Given the description of an element on the screen output the (x, y) to click on. 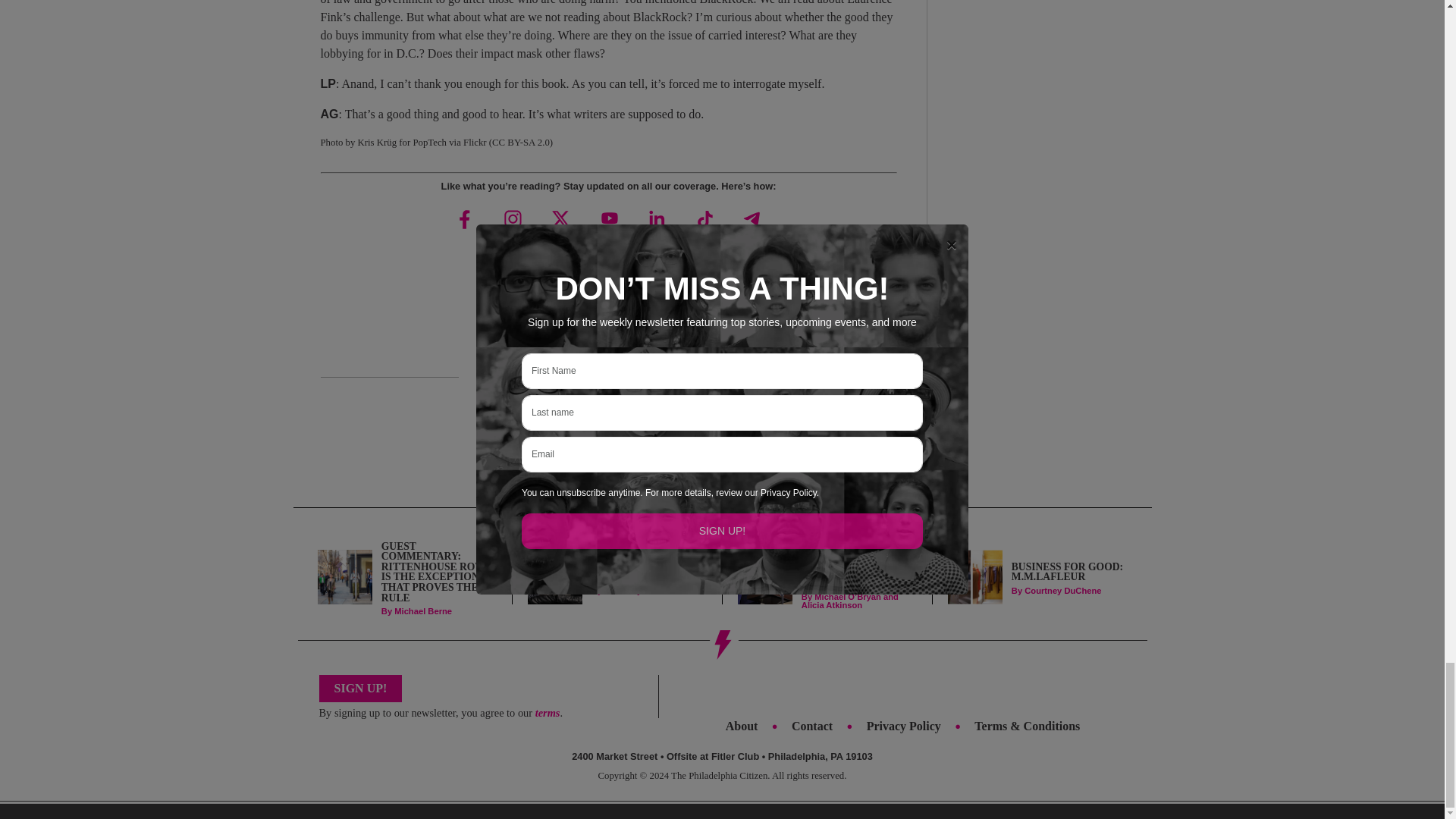
Instagram (512, 218)
Youtube (607, 218)
Facebook (464, 218)
LinkedIn (656, 218)
Twitter (559, 218)
